Given the description of an element on the screen output the (x, y) to click on. 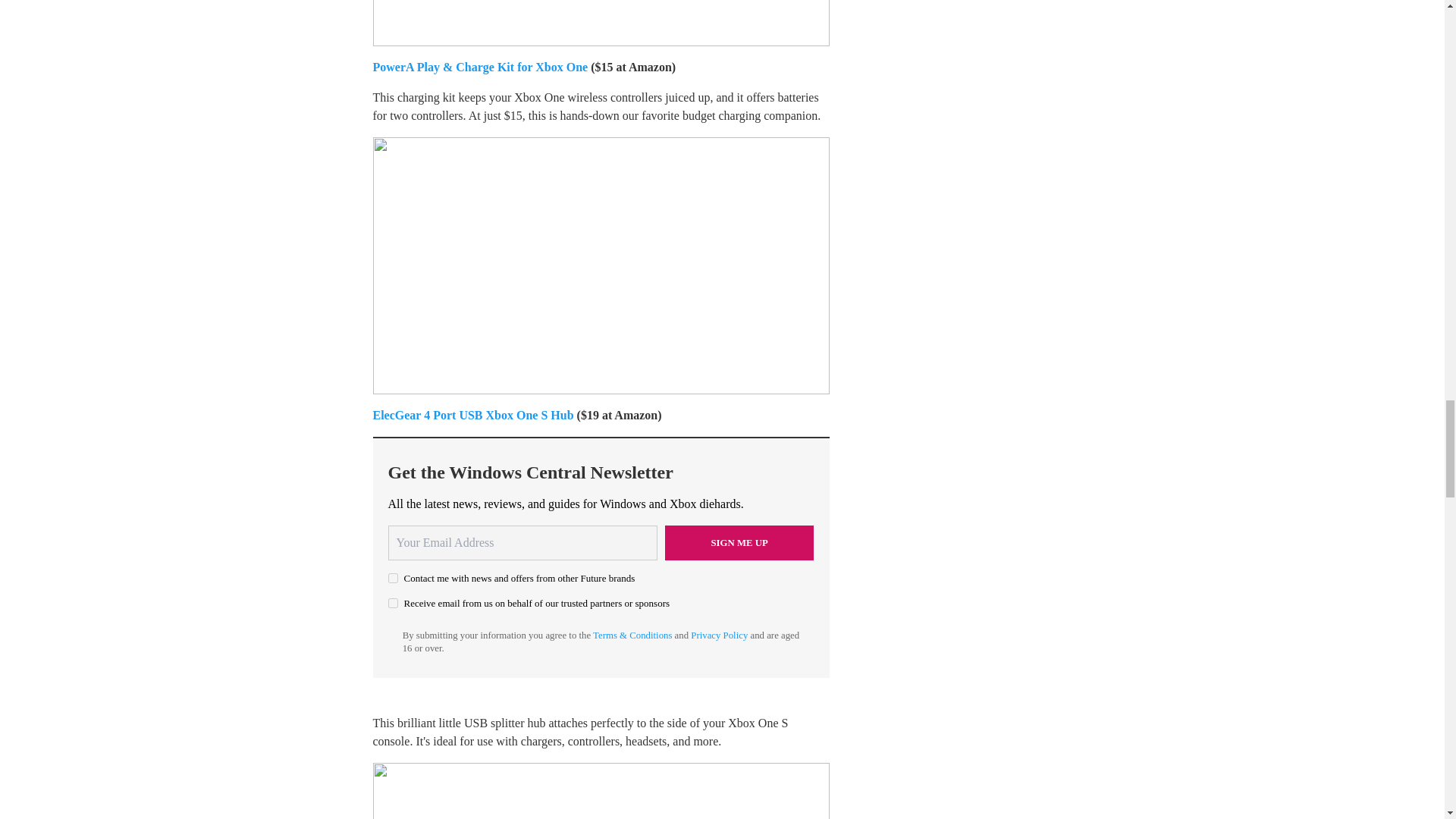
Sign me up (739, 542)
on (392, 578)
on (392, 603)
